Given the description of an element on the screen output the (x, y) to click on. 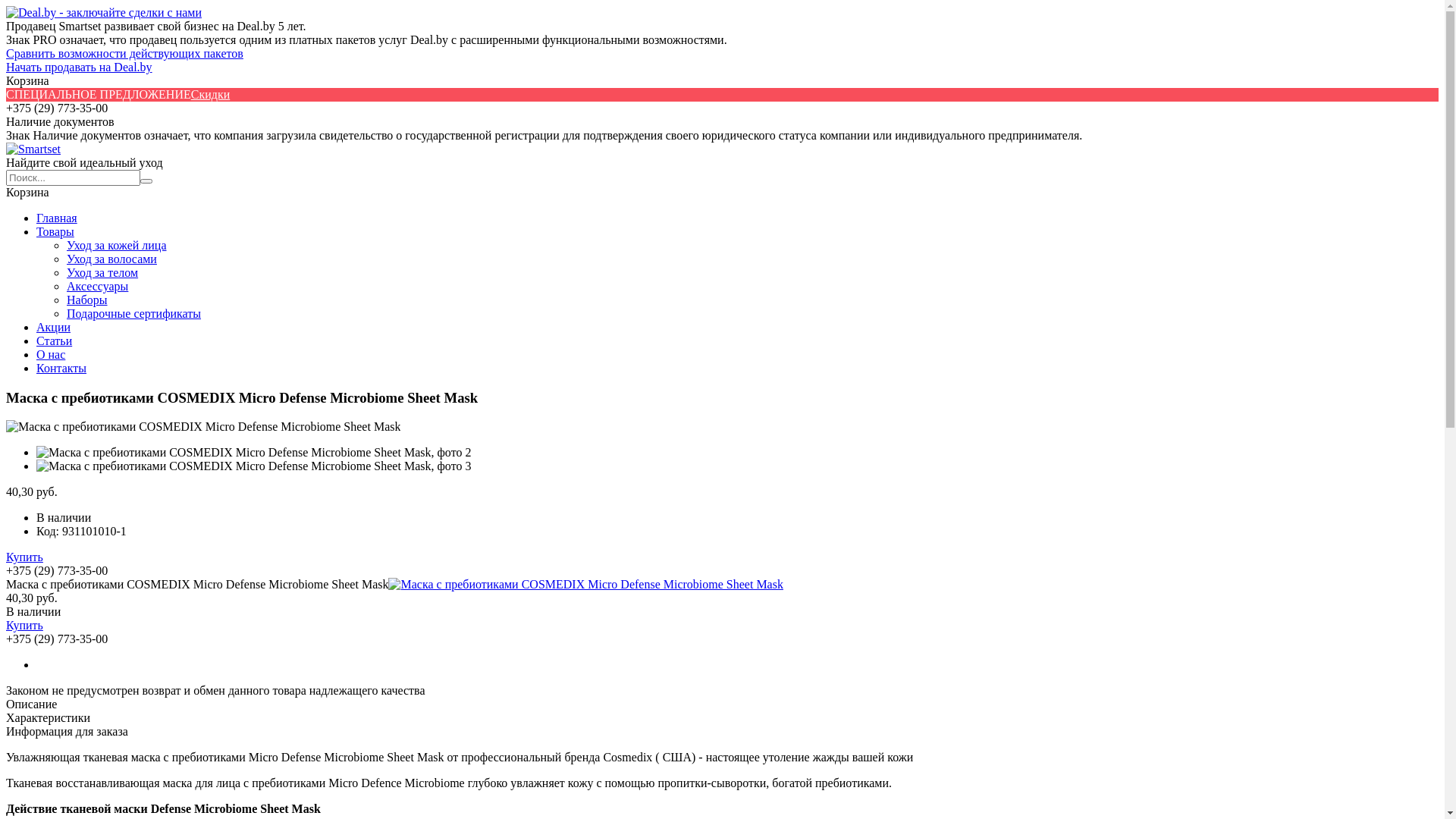
Smartset Element type: hover (33, 148)
